Given the description of an element on the screen output the (x, y) to click on. 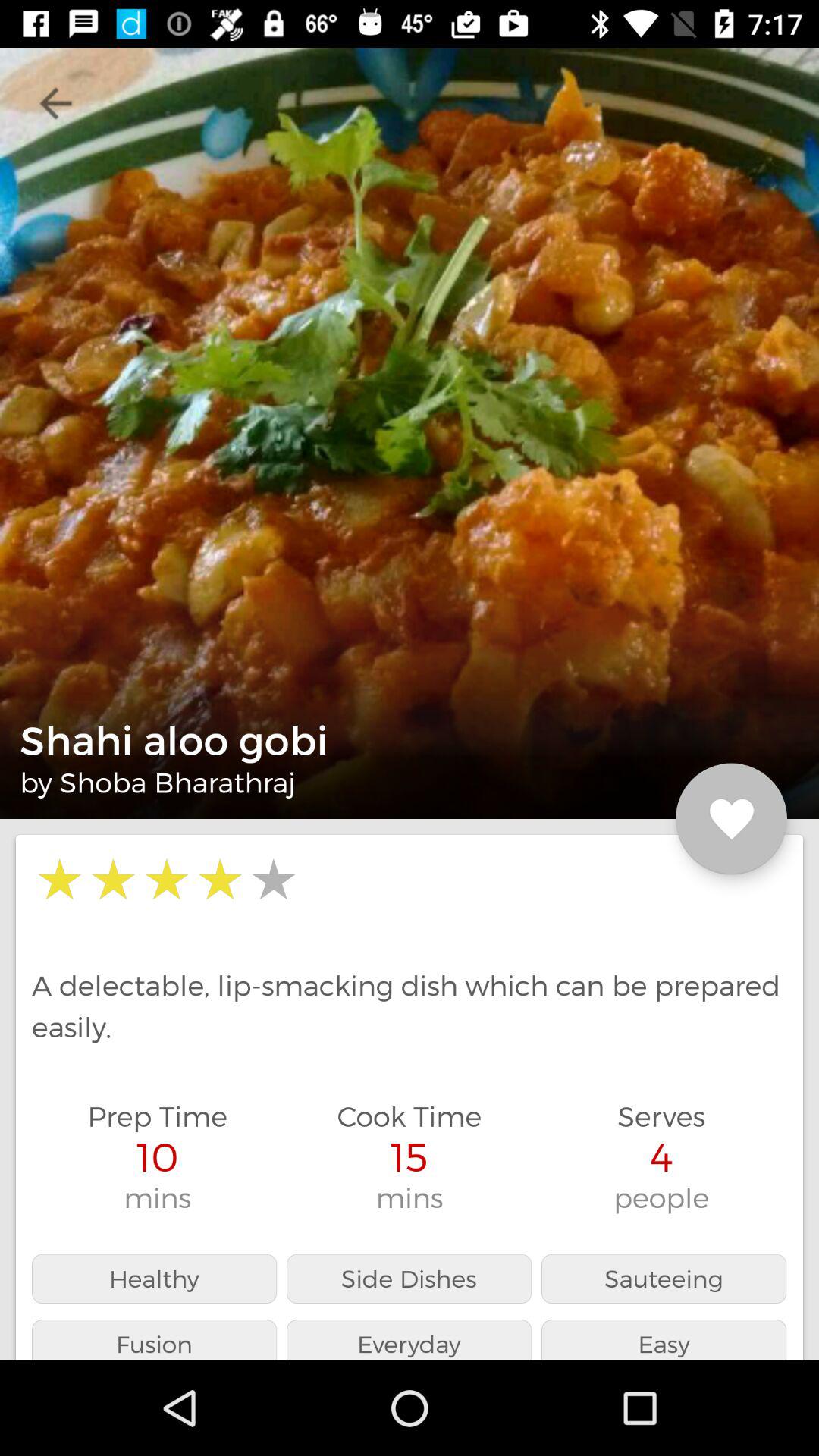
choose item on the right (731, 818)
